Given the description of an element on the screen output the (x, y) to click on. 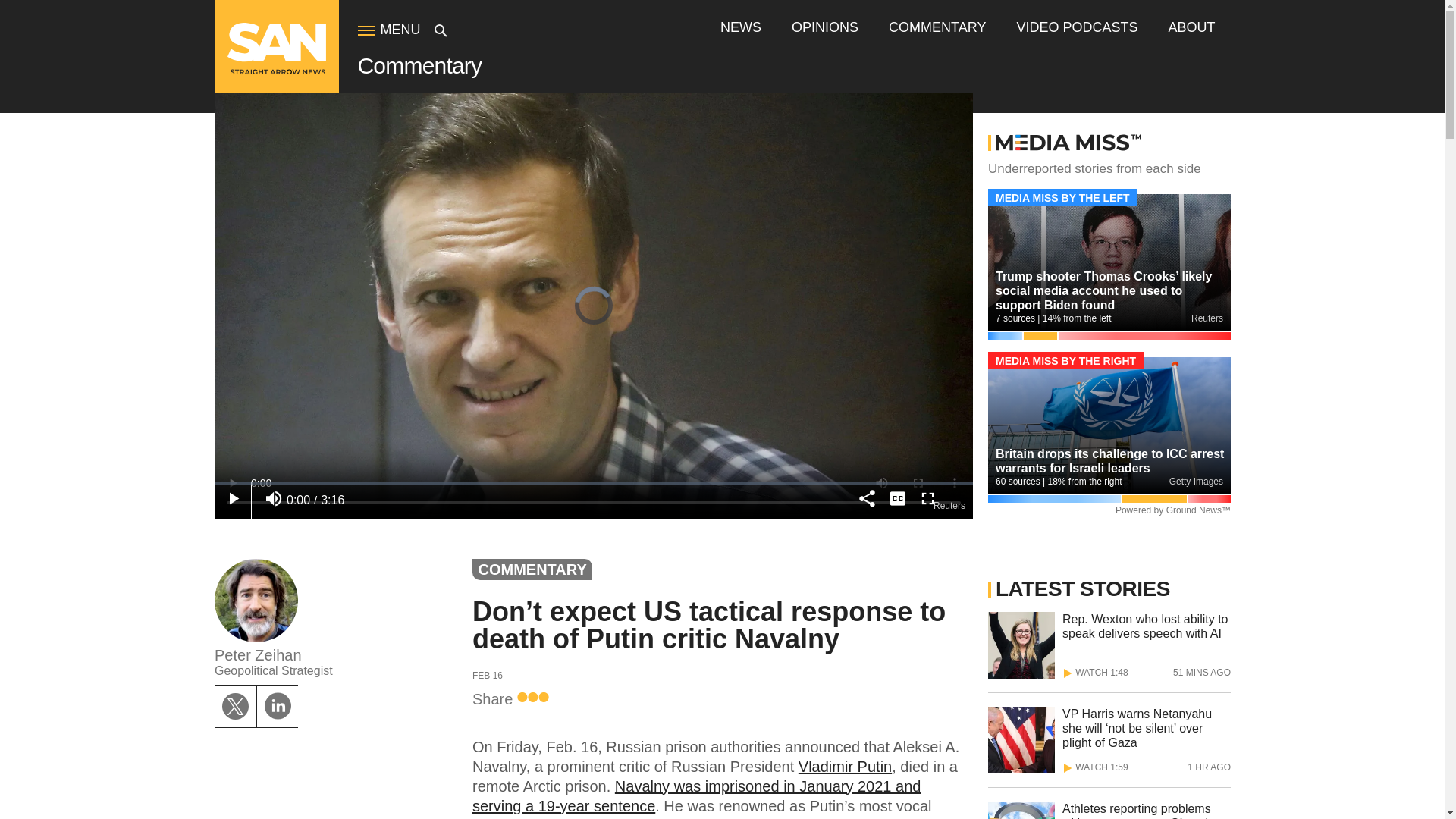
Home (276, 70)
OPINIONS (825, 27)
VIDEO PODCASTS (1076, 27)
NEWS (740, 27)
COMMENTARY (936, 27)
Play (232, 499)
ABOUT (1190, 27)
